Given the description of an element on the screen output the (x, y) to click on. 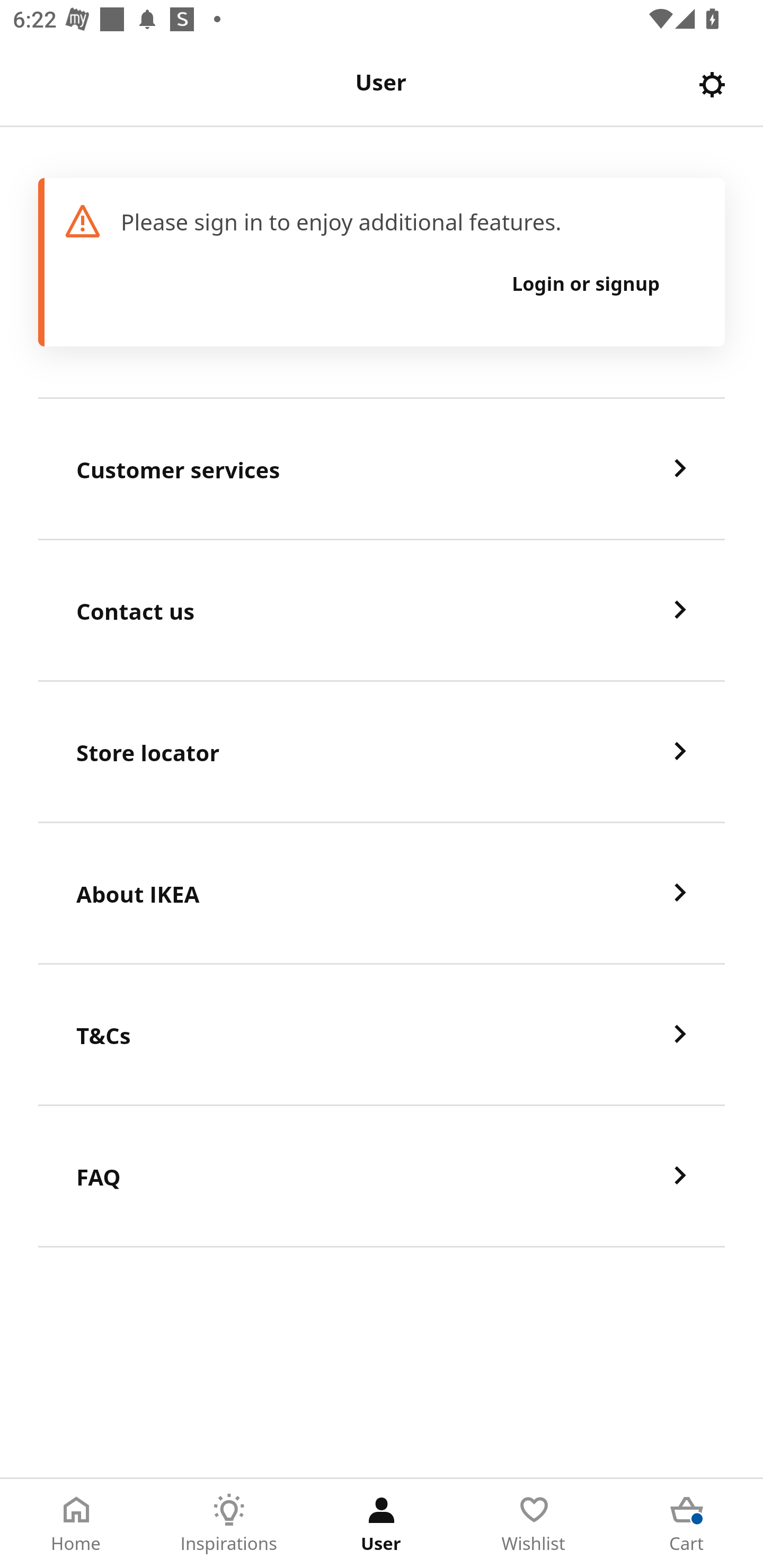
Login or signup (586, 282)
Customer services (381, 469)
Contact us (381, 611)
Store locator (381, 752)
About IKEA (381, 893)
T&Cs (381, 1034)
FAQ (381, 1176)
Home
Tab 1 of 5 (76, 1522)
Inspirations
Tab 2 of 5 (228, 1522)
User
Tab 3 of 5 (381, 1522)
Wishlist
Tab 4 of 5 (533, 1522)
Cart
Tab 5 of 5 (686, 1522)
